Given the description of an element on the screen output the (x, y) to click on. 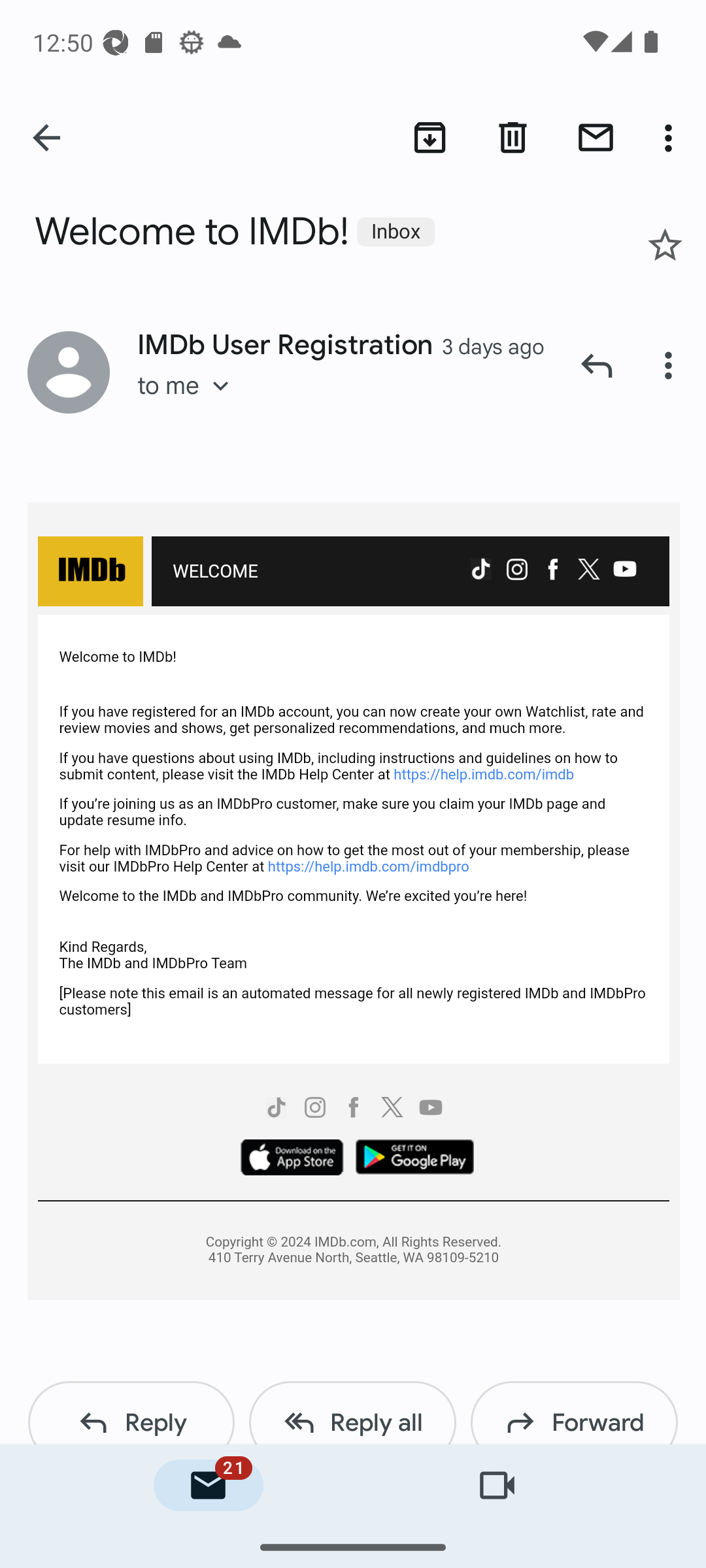
Navigate up (48, 138)
Archive (429, 137)
Delete (512, 137)
Mark unread (595, 137)
More options (671, 137)
Add star (664, 244)
Reply (595, 365)
More options (671, 365)
to me (188, 402)
IMDb Logo (90, 572)
IMDb on TikTok (480, 570)
IMDb on Instagram (516, 570)
IMDb on Facebook (552, 570)
IMDb on X (588, 570)
IMDb on YouTube (624, 570)
https://help.imdb.com/imdb (483, 774)
https://help.imdb.com/imdbpro (367, 865)
IMDb on TikTok (275, 1109)
IMDb on Instagram (315, 1109)
IMDb on Facebook (352, 1109)
IMDb on X (391, 1109)
IMDb on YouTube (430, 1109)
apple_113x34 (292, 1159)
google_113x34 (414, 1159)
Reply (131, 1412)
Reply all (352, 1412)
Forward (573, 1412)
Meet (497, 1485)
